Given the description of an element on the screen output the (x, y) to click on. 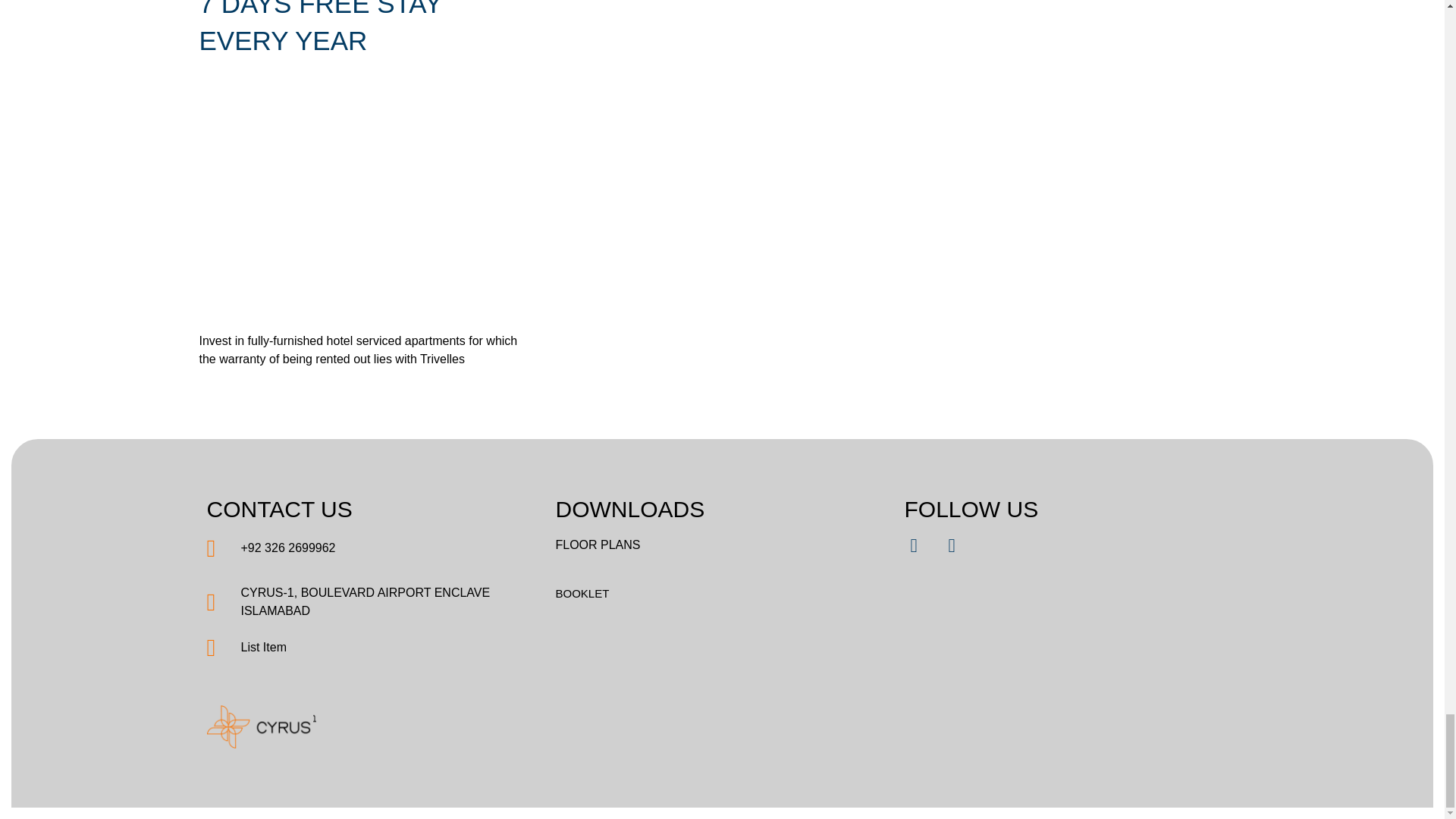
BOOKLET (721, 593)
